Given the description of an element on the screen output the (x, y) to click on. 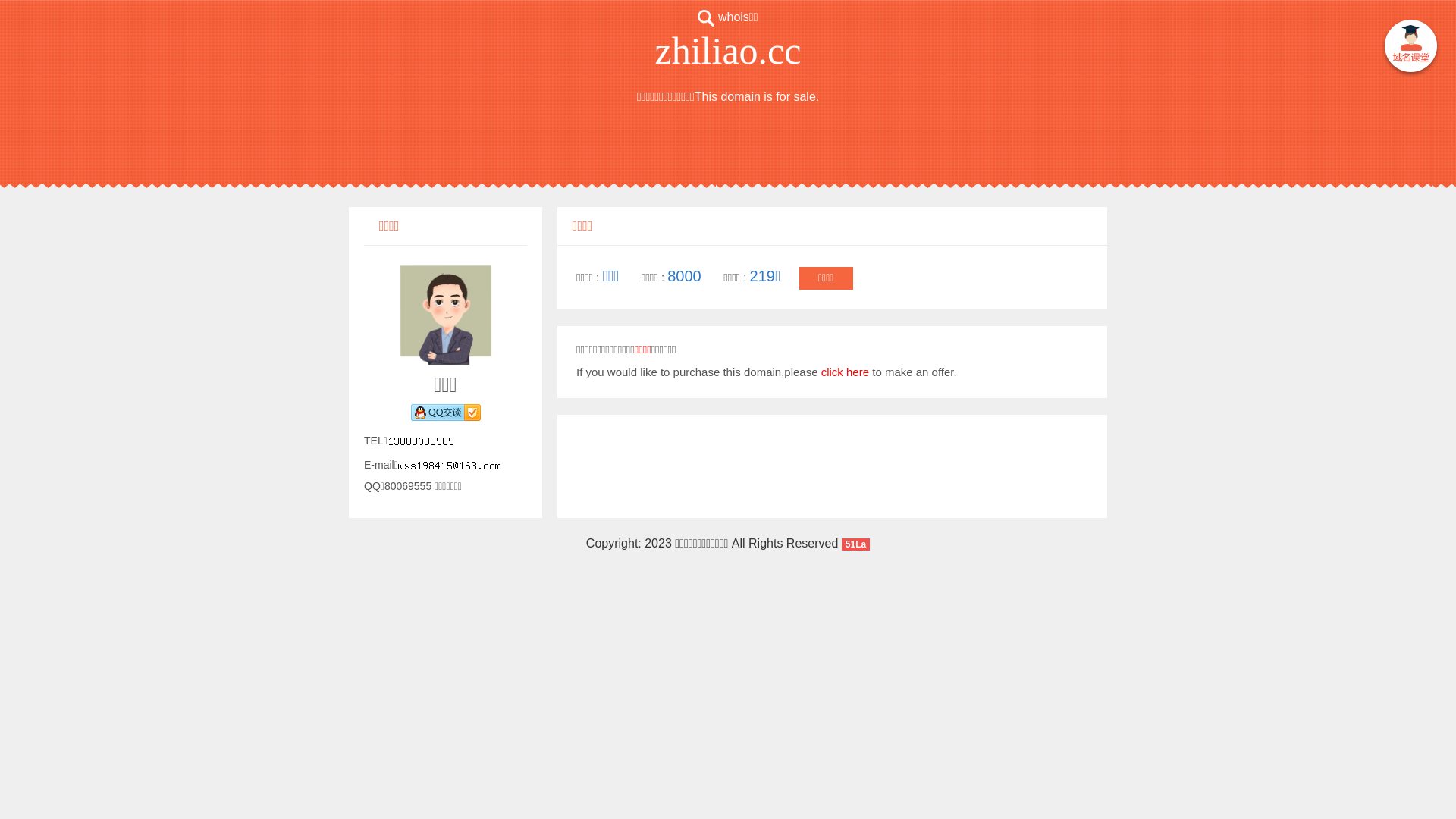
  Element type: text (1410, 48)
click here Element type: text (845, 371)
51La Element type: text (855, 542)
